Given the description of an element on the screen output the (x, y) to click on. 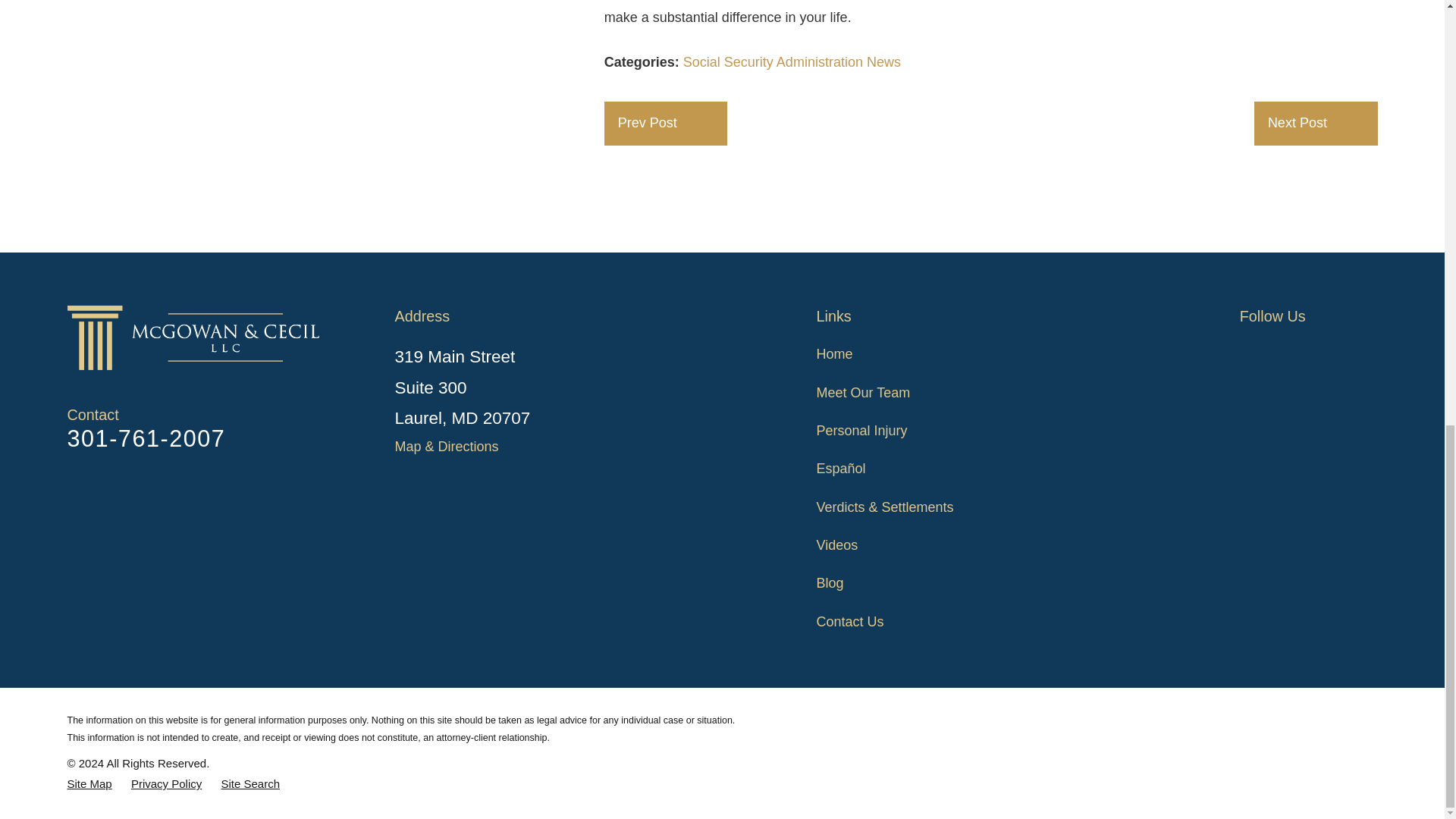
Facebook (1249, 351)
Twitter (1288, 351)
LinkedIn (1367, 351)
Home (198, 337)
Google Business Profile (1328, 351)
